Given the description of an element on the screen output the (x, y) to click on. 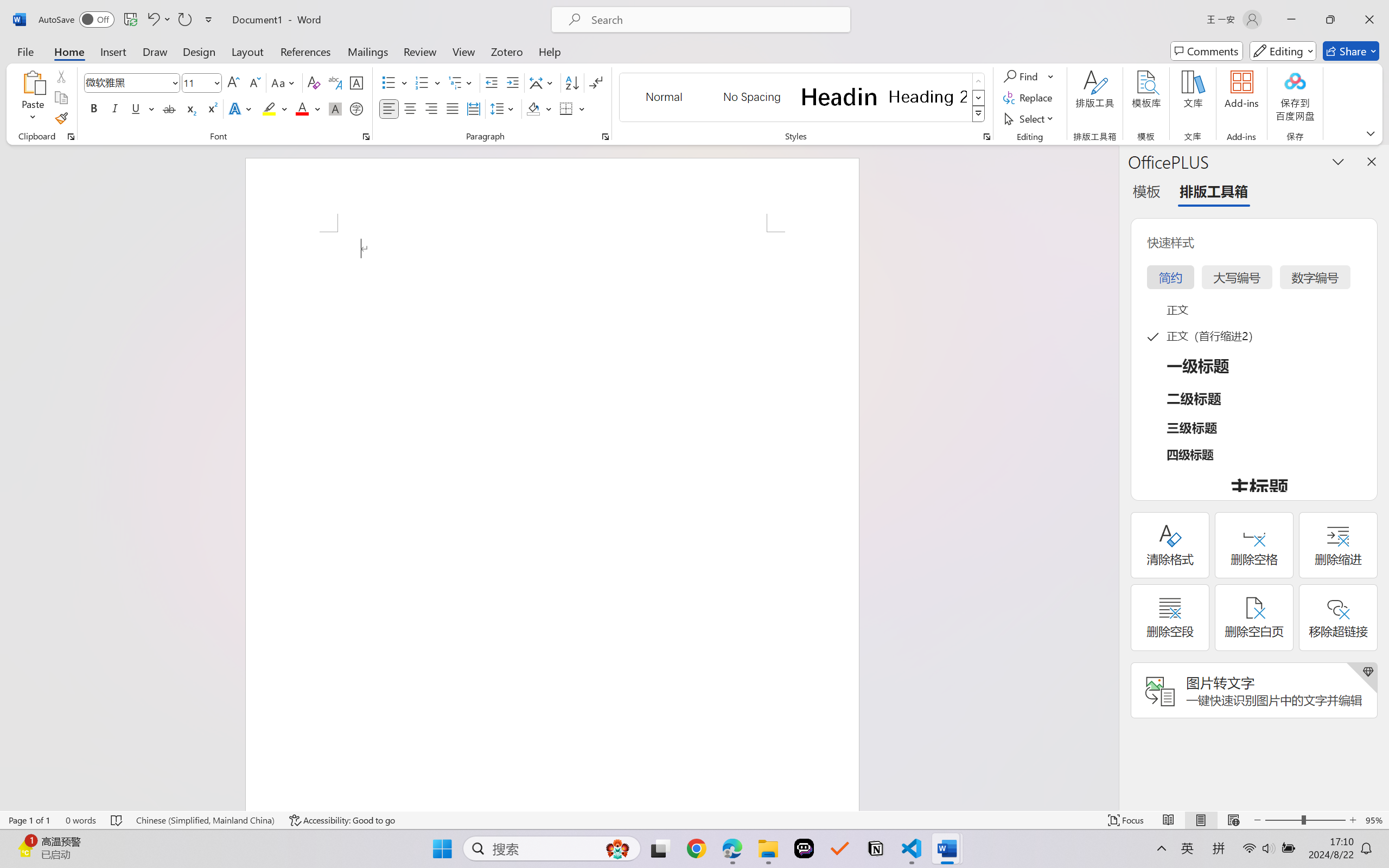
Microsoft search (715, 19)
